Given the description of an element on the screen output the (x, y) to click on. 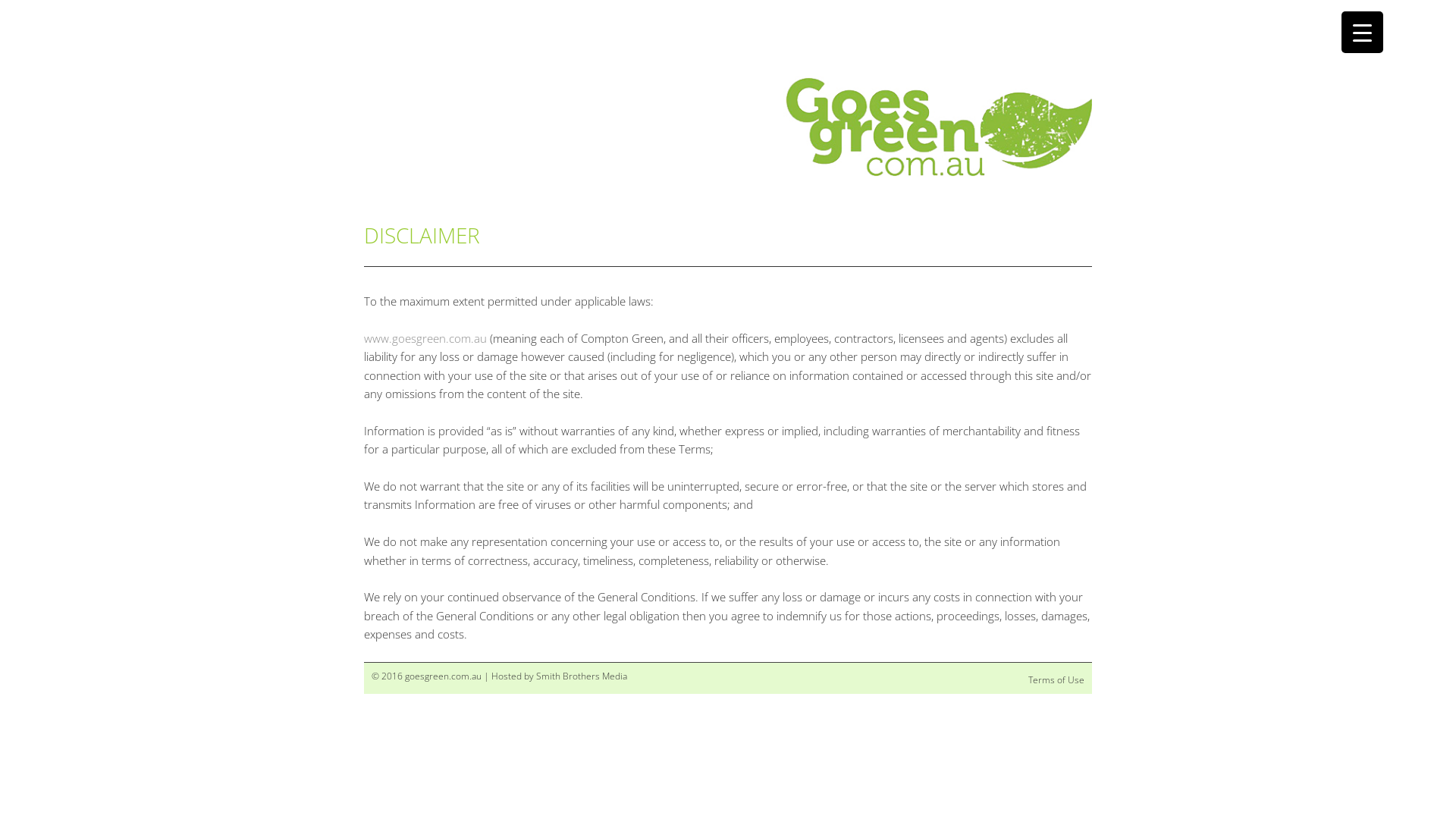
Terms of Use Element type: text (1056, 679)
Smith Brothers Media Element type: text (581, 675)
Skip to primary content Element type: text (433, 176)
www.goesgreen.com.au Element type: text (425, 337)
